Given the description of an element on the screen output the (x, y) to click on. 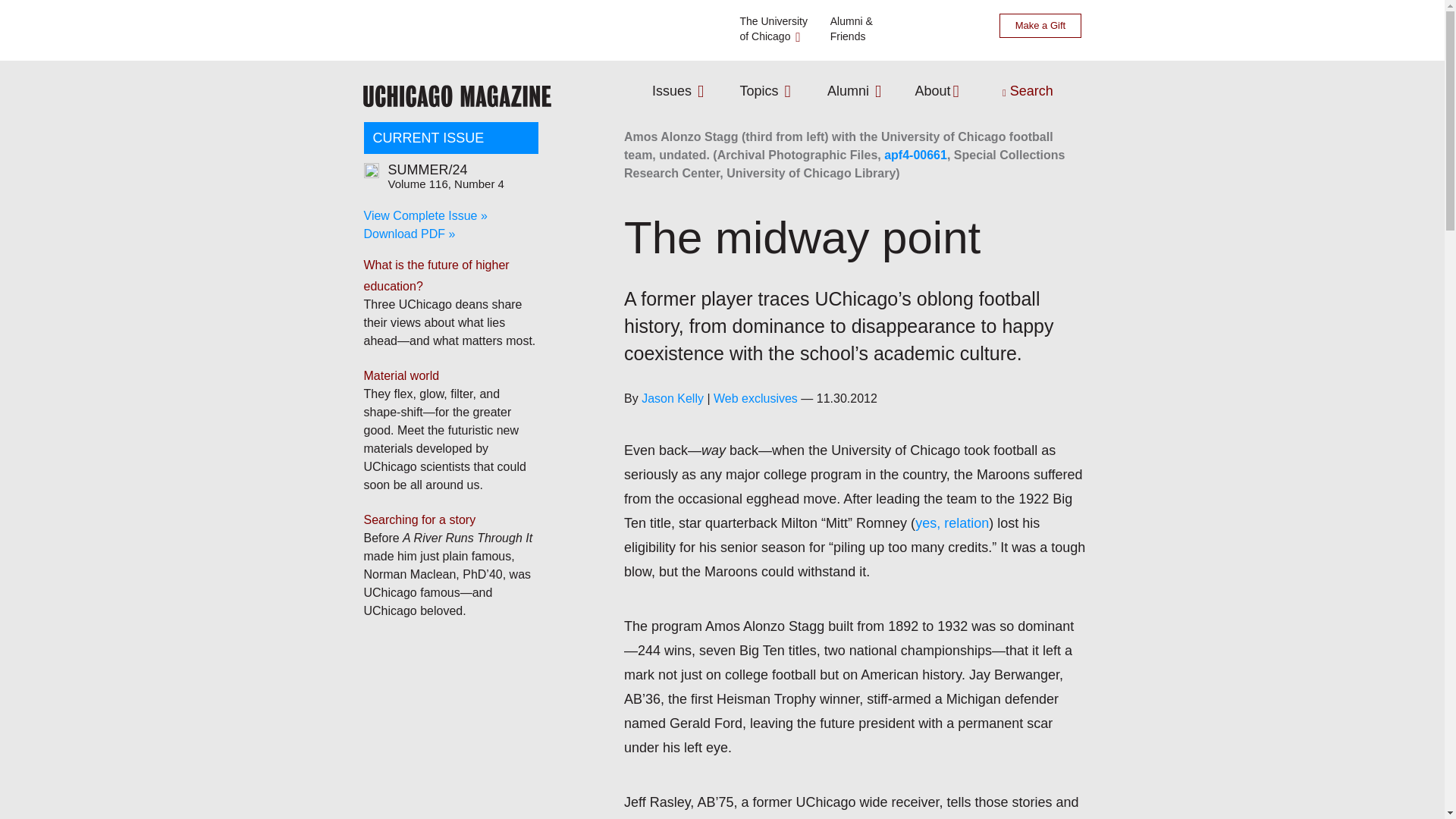
Make a Gift (1039, 25)
apf4-00661 (768, 27)
Alumni (915, 154)
Issues (855, 90)
Topics (679, 90)
Make a Gift (767, 90)
Jason Kelly (1039, 25)
About (672, 398)
Skip to main content (943, 90)
